Given the description of an element on the screen output the (x, y) to click on. 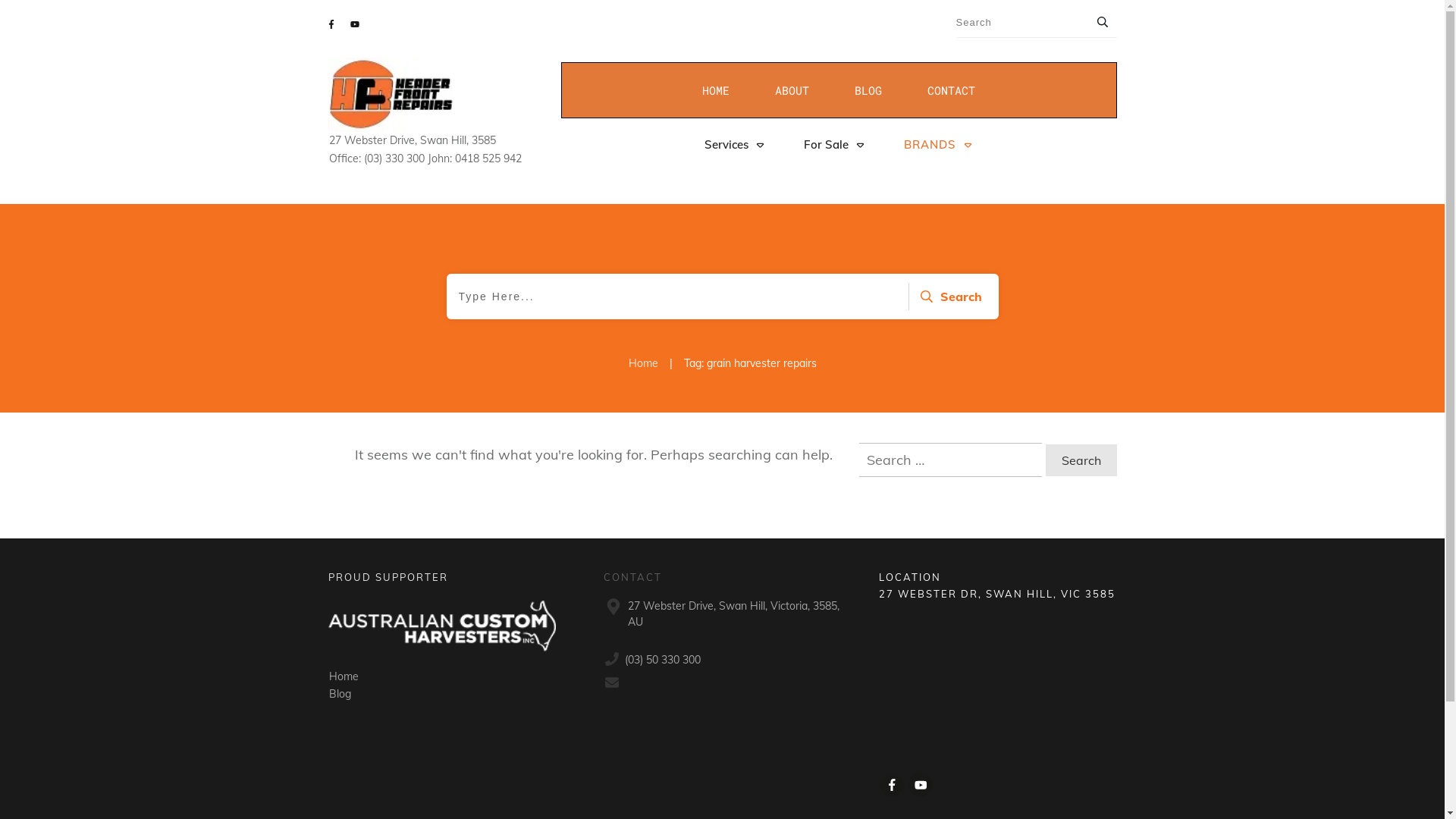
CONTACT Element type: text (951, 89)
Google Map Element type: hover (997, 677)
BLOG Element type: text (867, 89)
Australian Custom Harvesters logo Element type: hover (441, 626)
Search Element type: text (948, 296)
BRANDS Element type: text (938, 144)
Search Element type: text (1080, 460)
Home Element type: text (642, 363)
Home Element type: text (343, 676)
Blog Element type: text (340, 693)
HOME Element type: text (715, 89)
For Sale Element type: text (834, 144)
ABOUT Element type: text (792, 89)
Services Element type: text (734, 144)
